Given the description of an element on the screen output the (x, y) to click on. 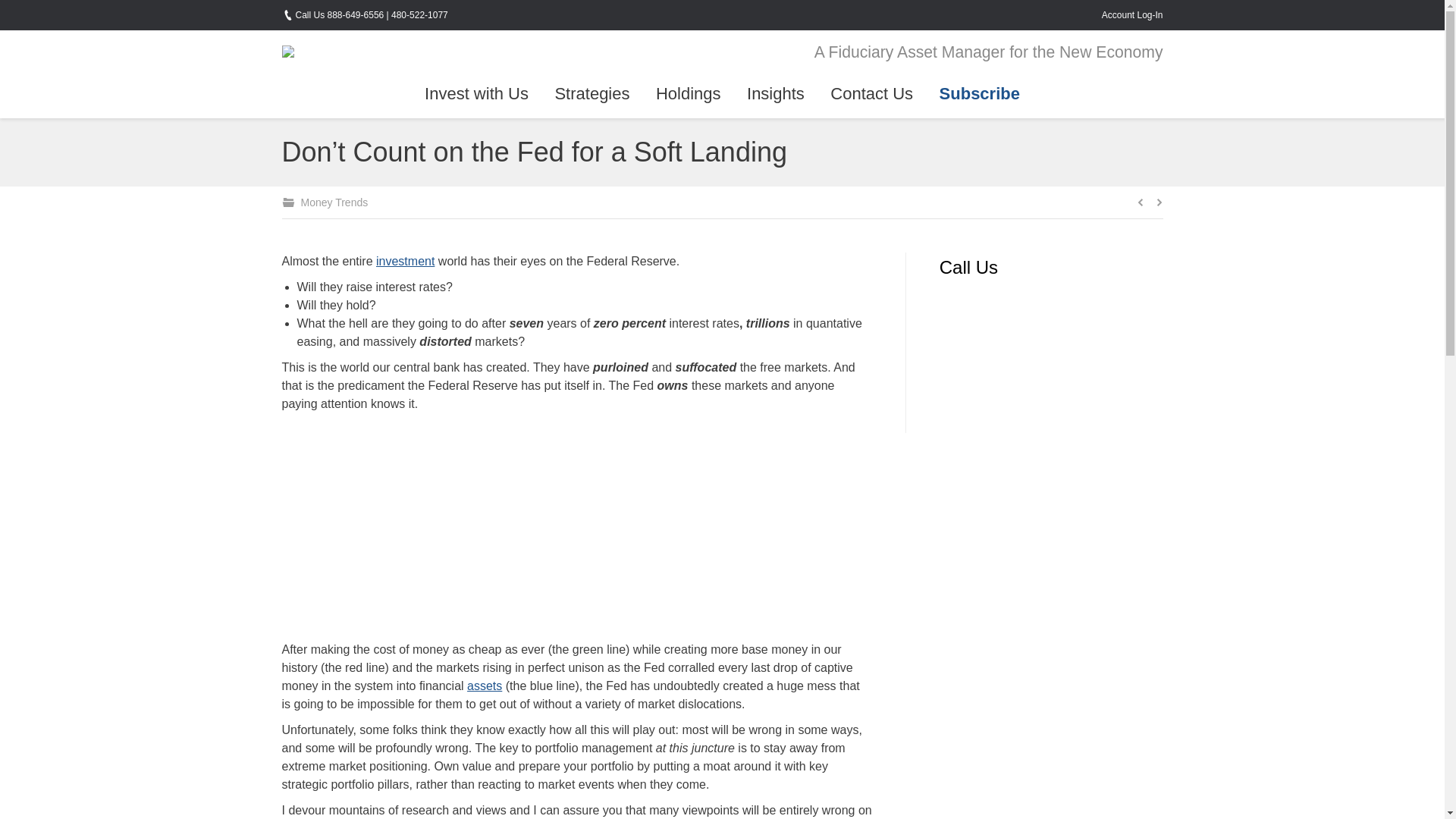
investment (404, 260)
Learn about true diversification (484, 685)
Insights (775, 94)
A Smarter Approach to Investing (688, 94)
Contact Us For Your Financial Advise (871, 94)
Strategies (591, 94)
Invest With Us (476, 94)
assets (484, 685)
Learn Our Financial Strategies (591, 94)
Money Trends (333, 202)
Holdings (688, 94)
Learn about investing (404, 260)
Account Log-In (1132, 14)
Contact Us (871, 94)
Invest with Us (476, 94)
